Given the description of an element on the screen output the (x, y) to click on. 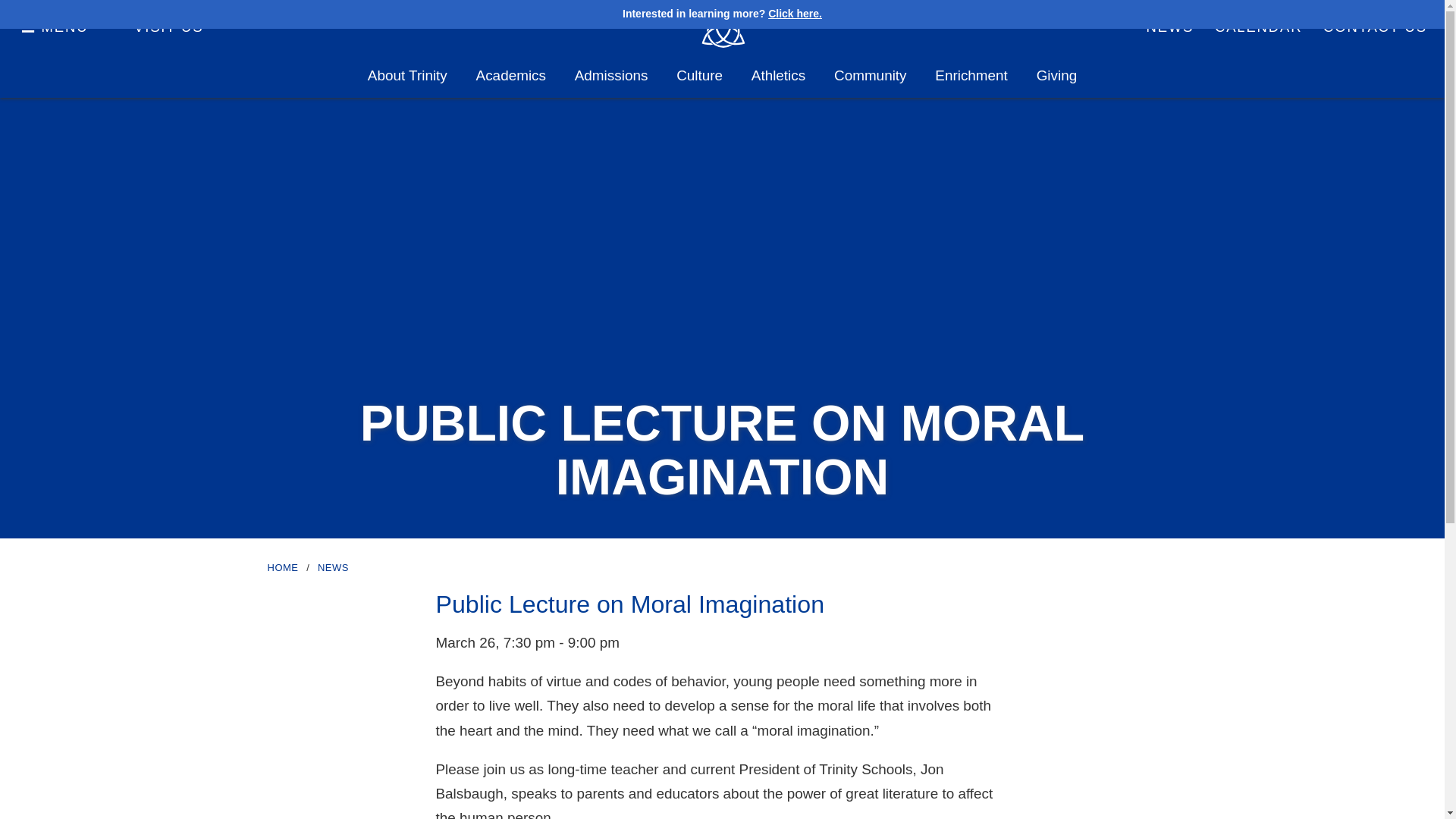
Academics (510, 75)
Click here. (795, 13)
CONTACT US (1375, 27)
About Trinity (407, 75)
Admissions (611, 75)
NEWS (1170, 27)
VISIT US (168, 27)
CALENDAR (1258, 27)
